Given the description of an element on the screen output the (x, y) to click on. 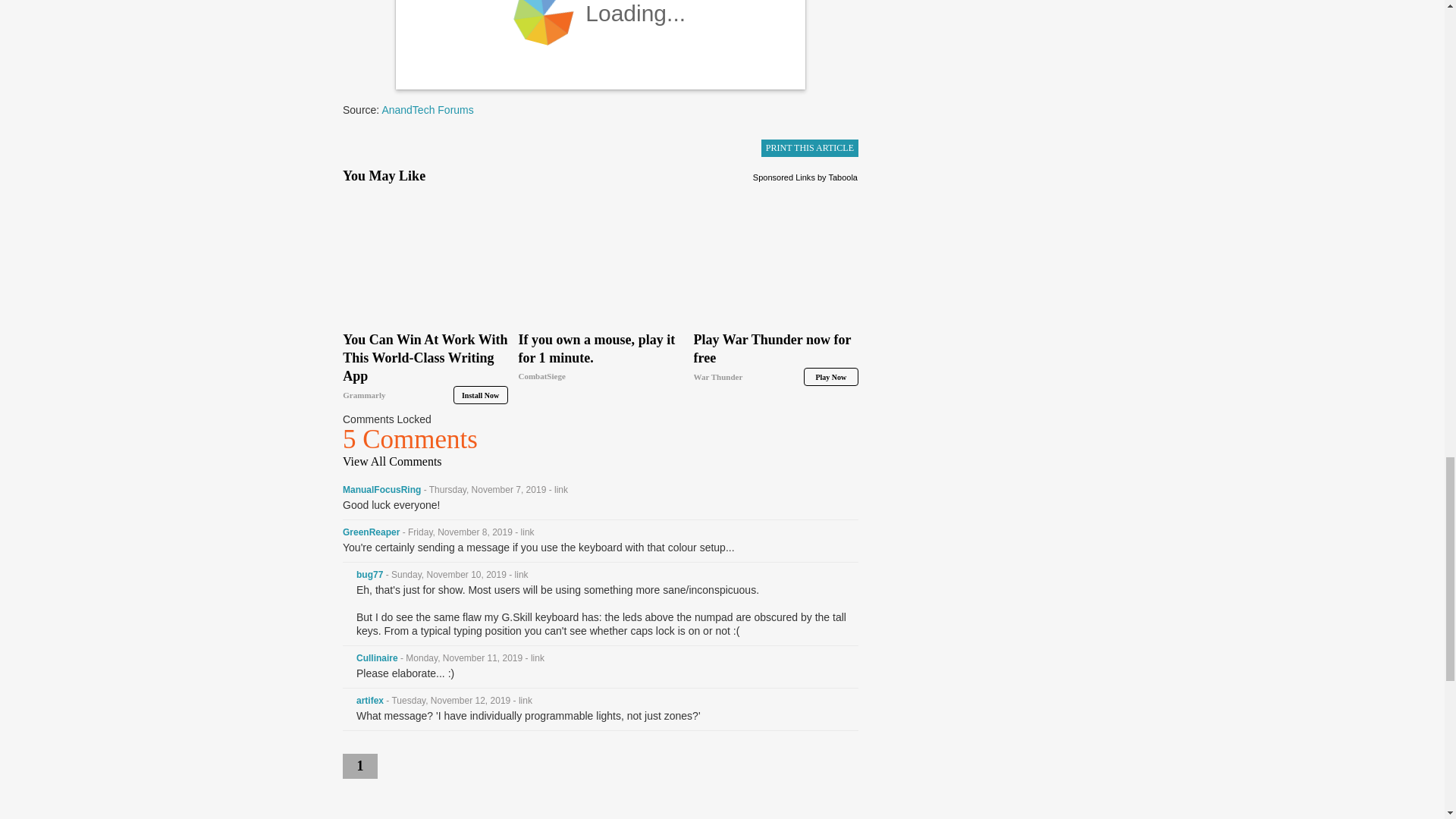
If you own a mouse, play it for 1 minute. (600, 357)
Play War Thunder now for free (776, 357)
You Can Win At Work With This World-Class Writing App (424, 367)
